Given the description of an element on the screen output the (x, y) to click on. 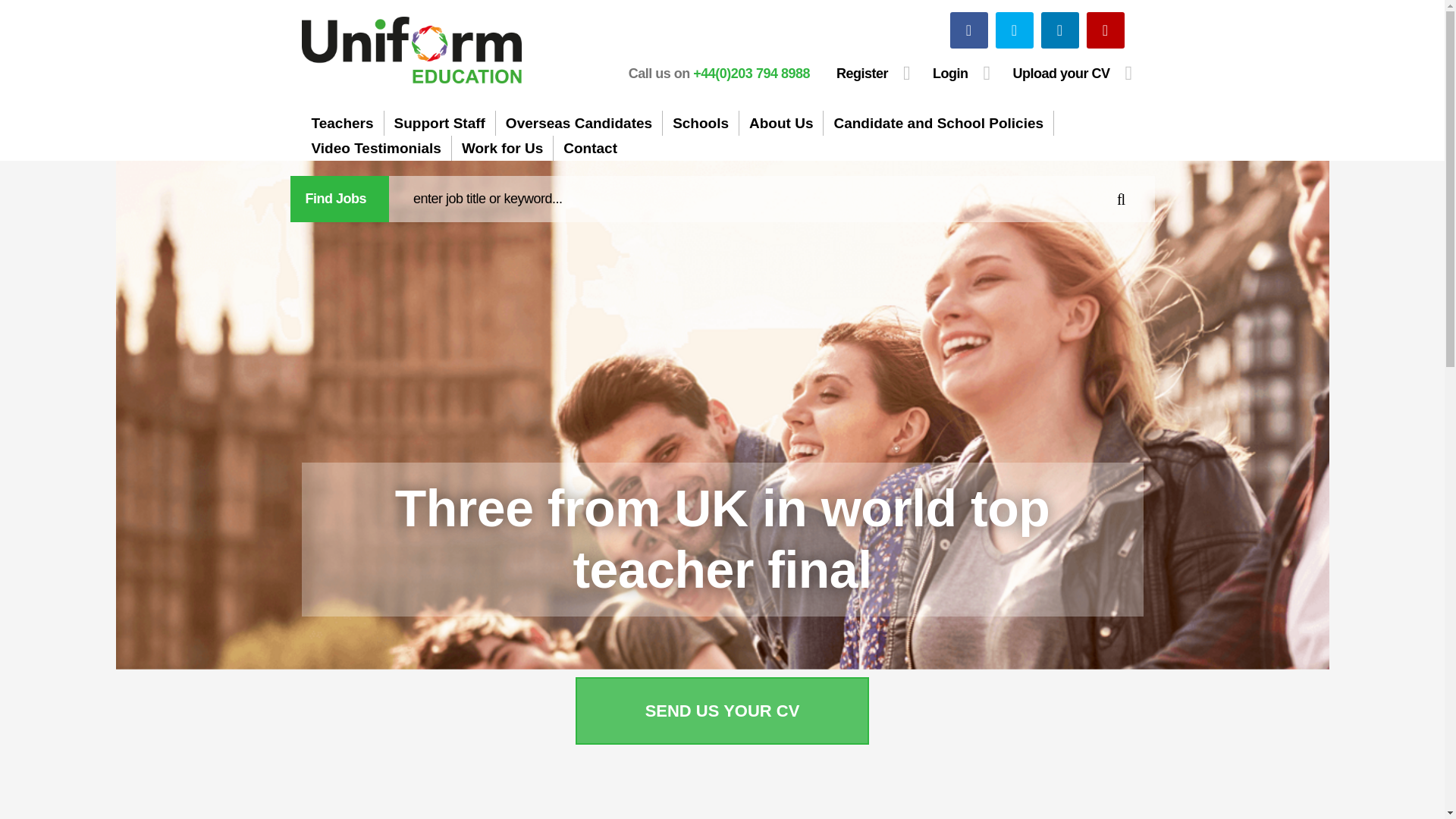
Login (961, 72)
Teachers (342, 122)
Overseas Candidates (579, 122)
Uniform Education (411, 49)
Upload your CV (1071, 72)
About Us (780, 122)
Go to the Homepage (411, 49)
Support Staff (439, 122)
Register (873, 72)
Candidate and School Policies (938, 122)
